Given the description of an element on the screen output the (x, y) to click on. 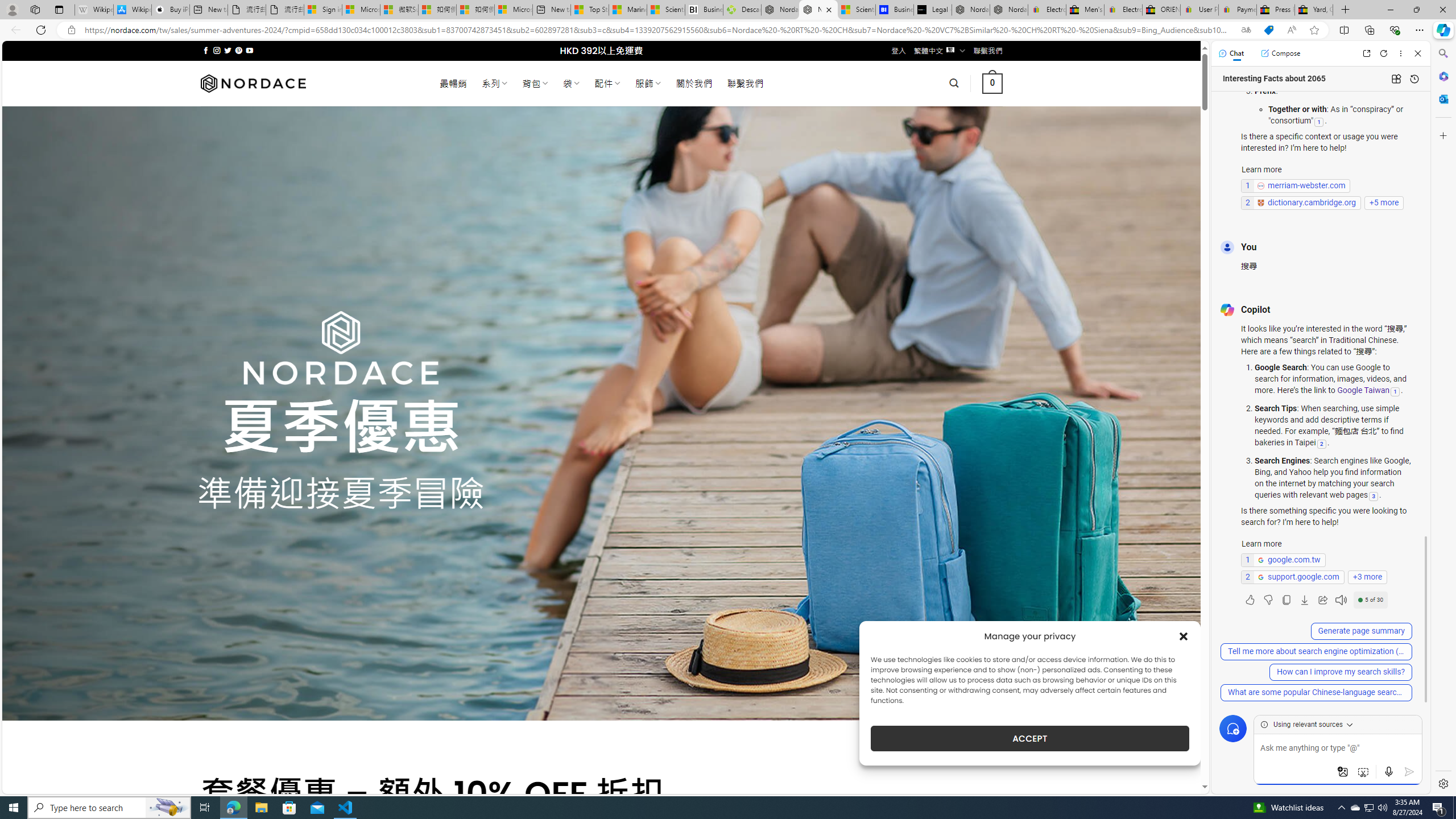
Follow on Facebook (205, 50)
